Given the description of an element on the screen output the (x, y) to click on. 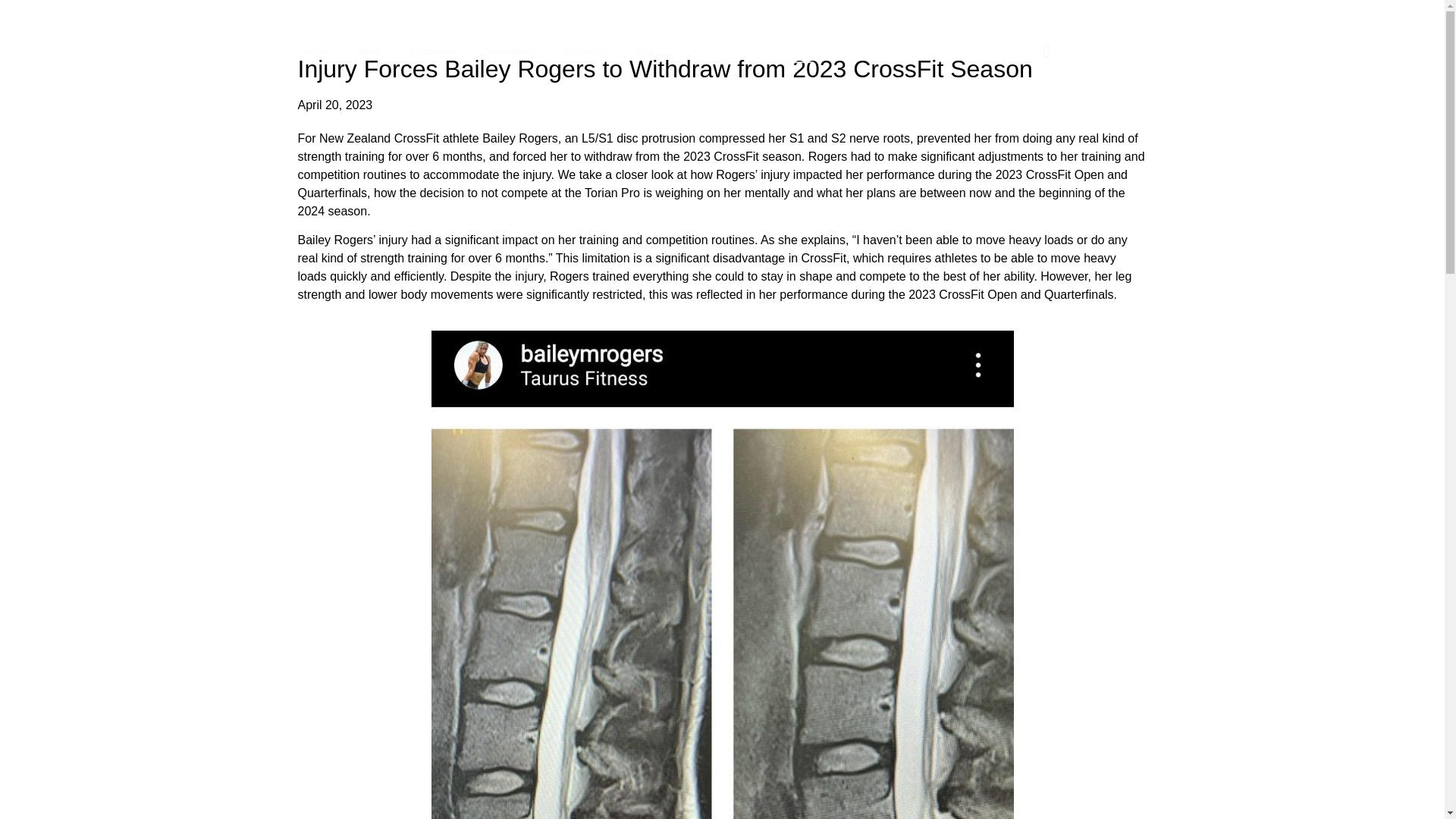
Videography (510, 50)
Photography (432, 50)
About (368, 50)
Blog (644, 50)
Contact Us (585, 50)
Home (315, 50)
